Given the description of an element on the screen output the (x, y) to click on. 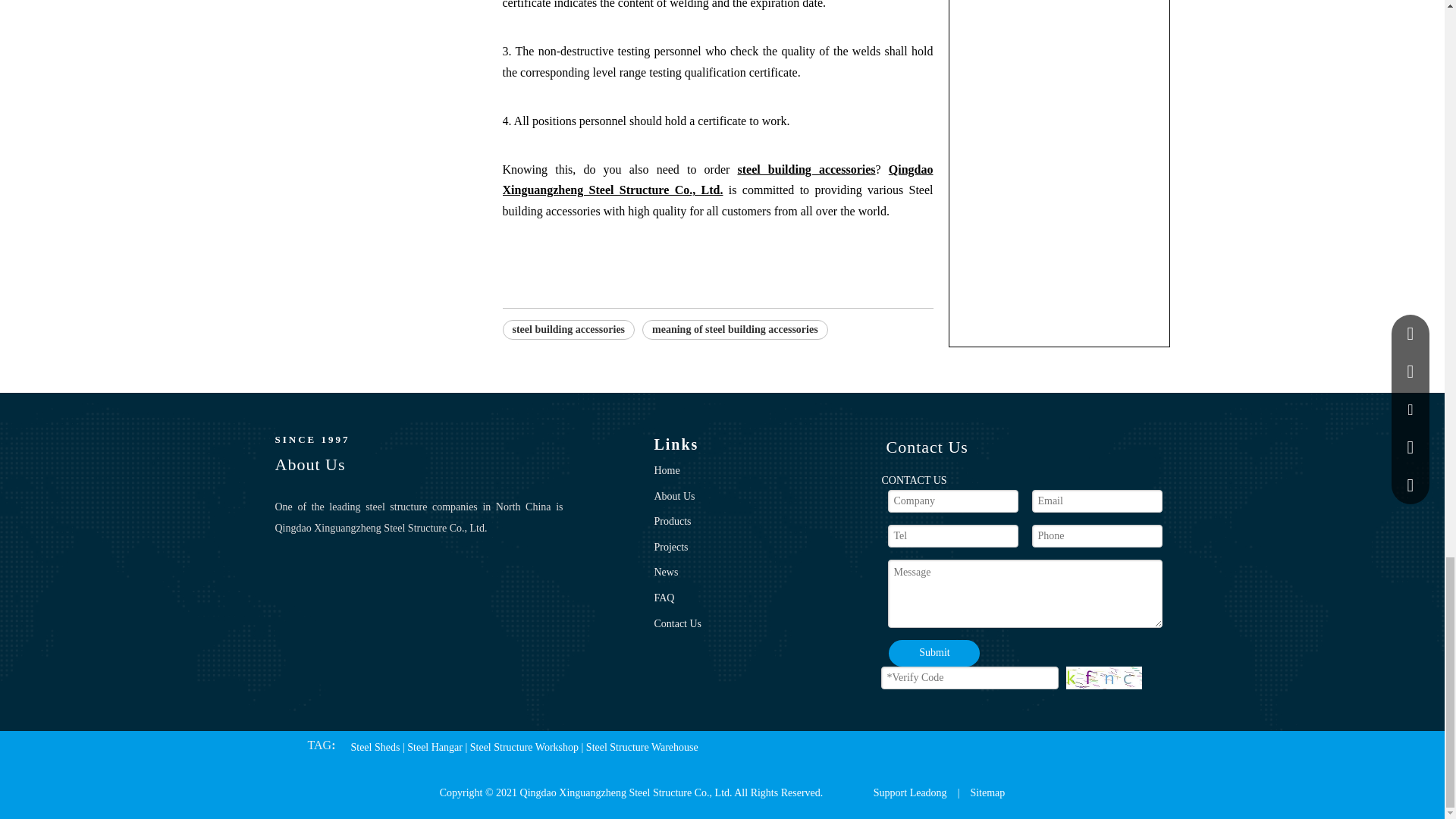
Youtube (393, 579)
Products (671, 521)
meaning of steel building accessories (735, 329)
News (665, 572)
steel building accessories (568, 329)
Contact Us (677, 623)
Projects (670, 546)
Facebook (293, 579)
FAQ (663, 597)
About Us (673, 496)
Linkedin (342, 579)
Home (666, 470)
